Given the description of an element on the screen output the (x, y) to click on. 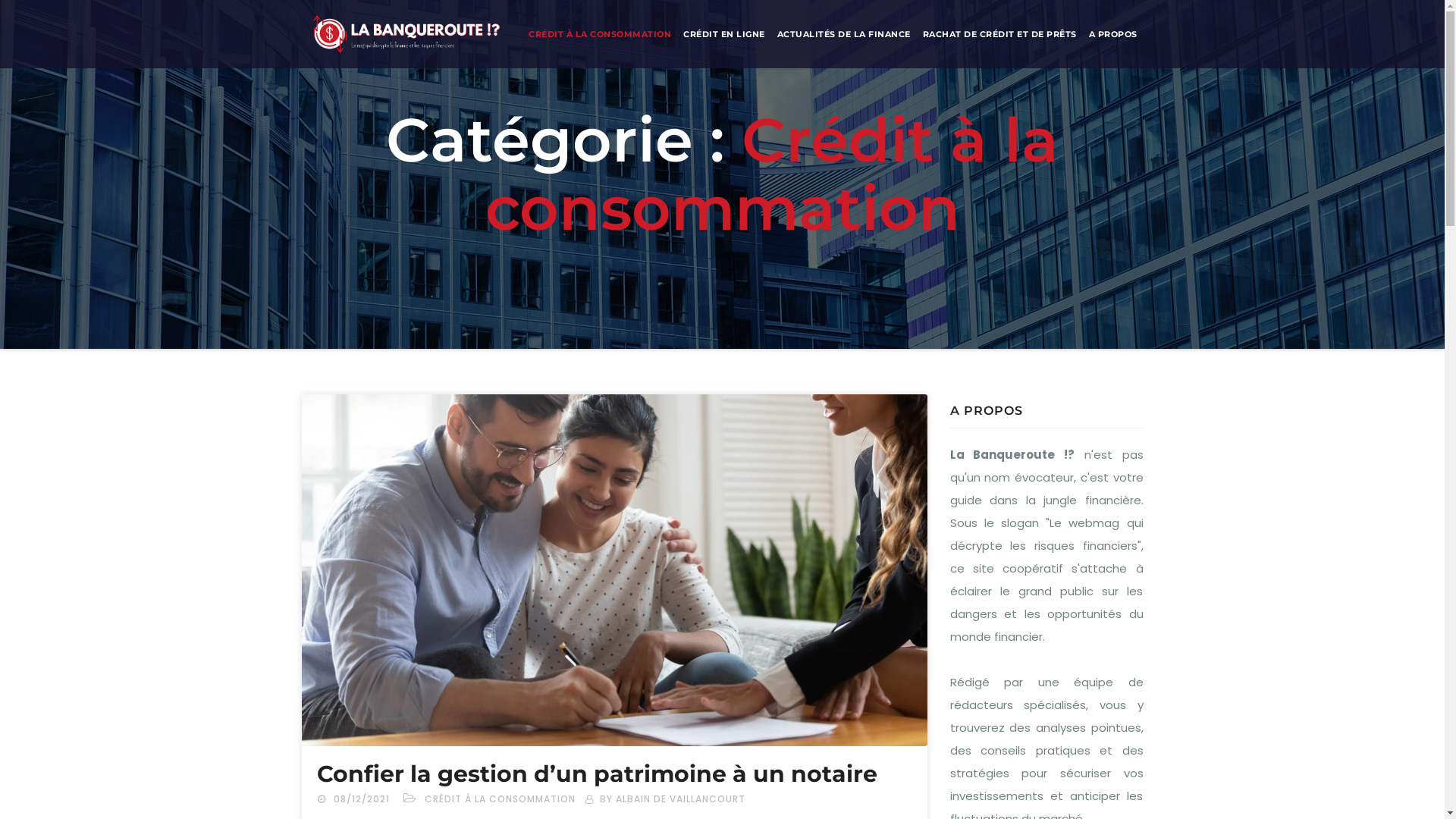
BY ALBAIN DE VAILLANCOURT Element type: text (663, 798)
A PROPOS Element type: text (1112, 34)
08/12/2021 Element type: text (361, 798)
